Given the description of an element on the screen output the (x, y) to click on. 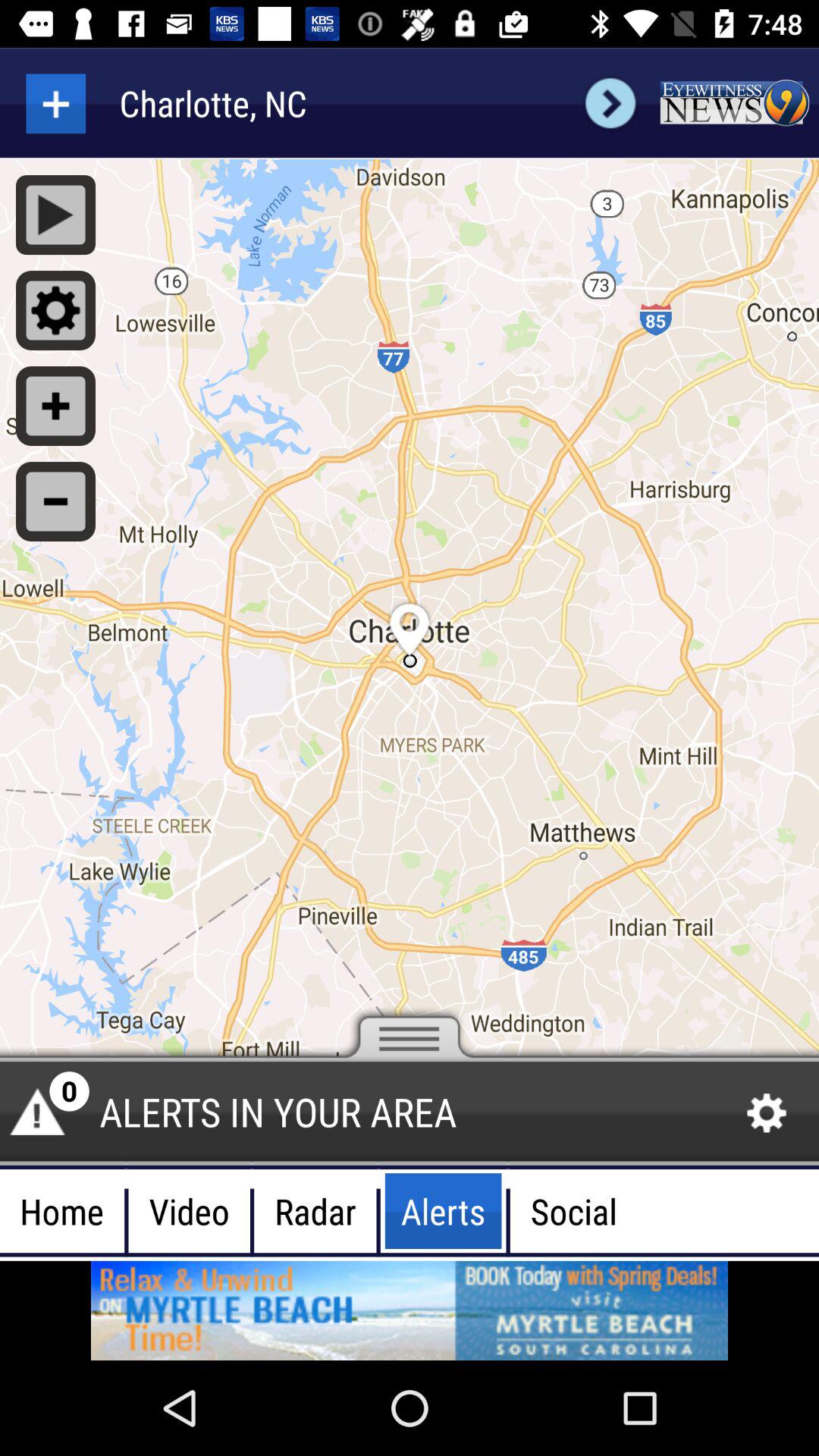
go to previous (610, 103)
